Given the description of an element on the screen output the (x, y) to click on. 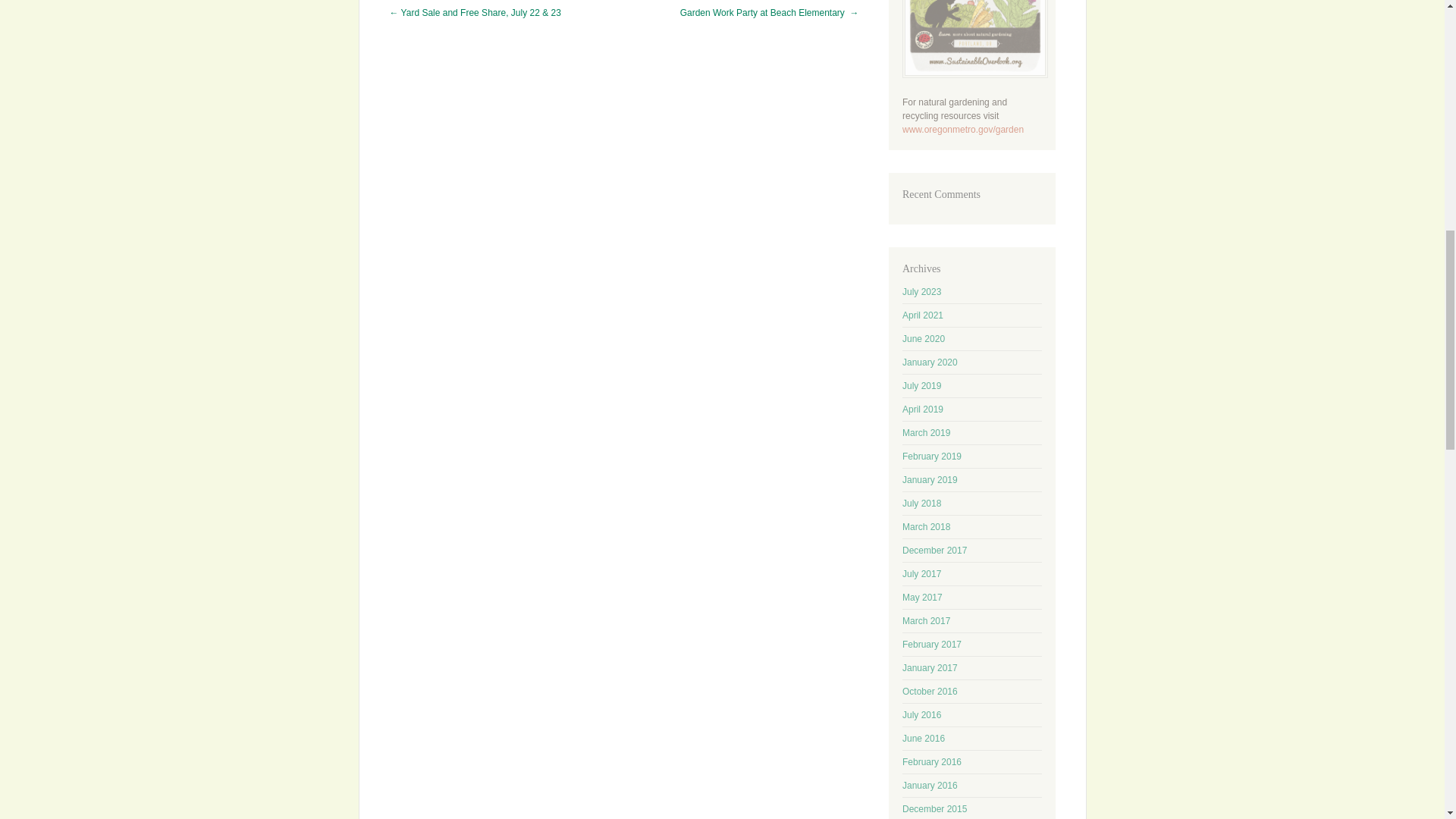
metro (962, 129)
